Given the description of an element on the screen output the (x, y) to click on. 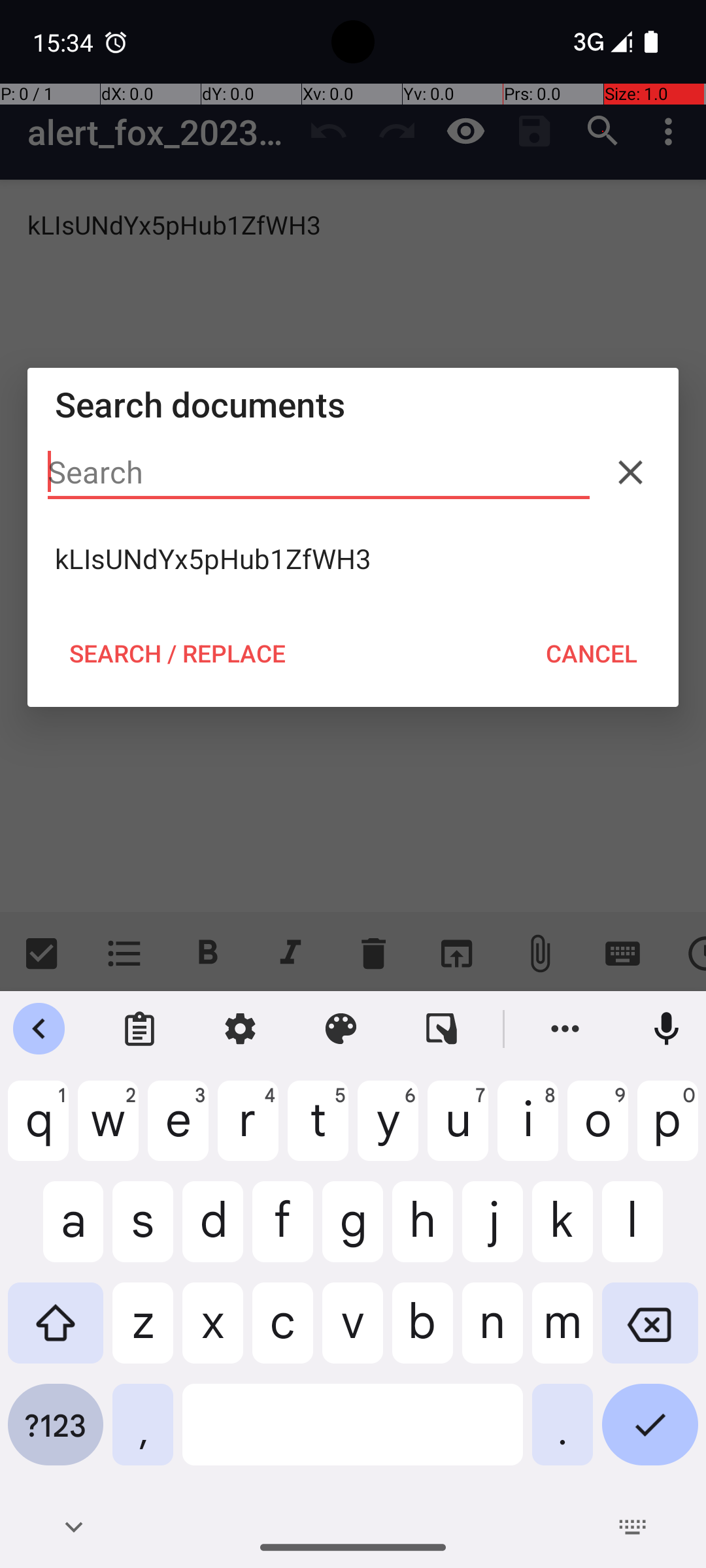
kLIsUNdYx5pHub1ZfWH3 Element type: android.widget.TextView (352, 558)
